Given the description of an element on the screen output the (x, y) to click on. 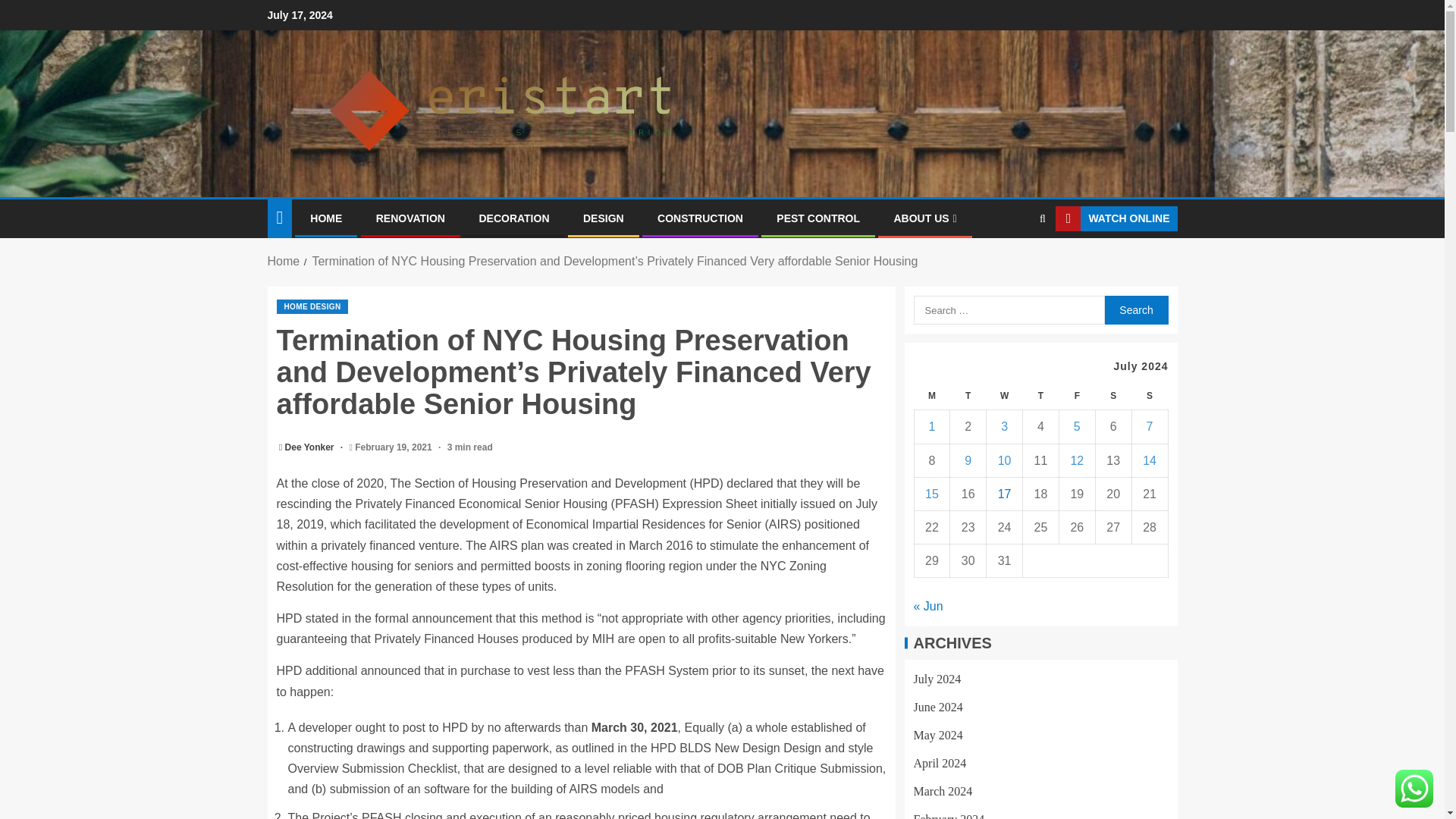
Dee Yonker (310, 447)
Thursday (1041, 396)
Friday (1076, 396)
WATCH ONLINE (1115, 218)
Search (1135, 309)
HOME (326, 218)
Tuesday (968, 396)
HOME DESIGN (311, 306)
RENOVATION (410, 218)
Sunday (1149, 396)
PEST CONTROL (818, 218)
Monday (932, 396)
DESIGN (603, 218)
Search (1013, 265)
Search (1135, 309)
